Given the description of an element on the screen output the (x, y) to click on. 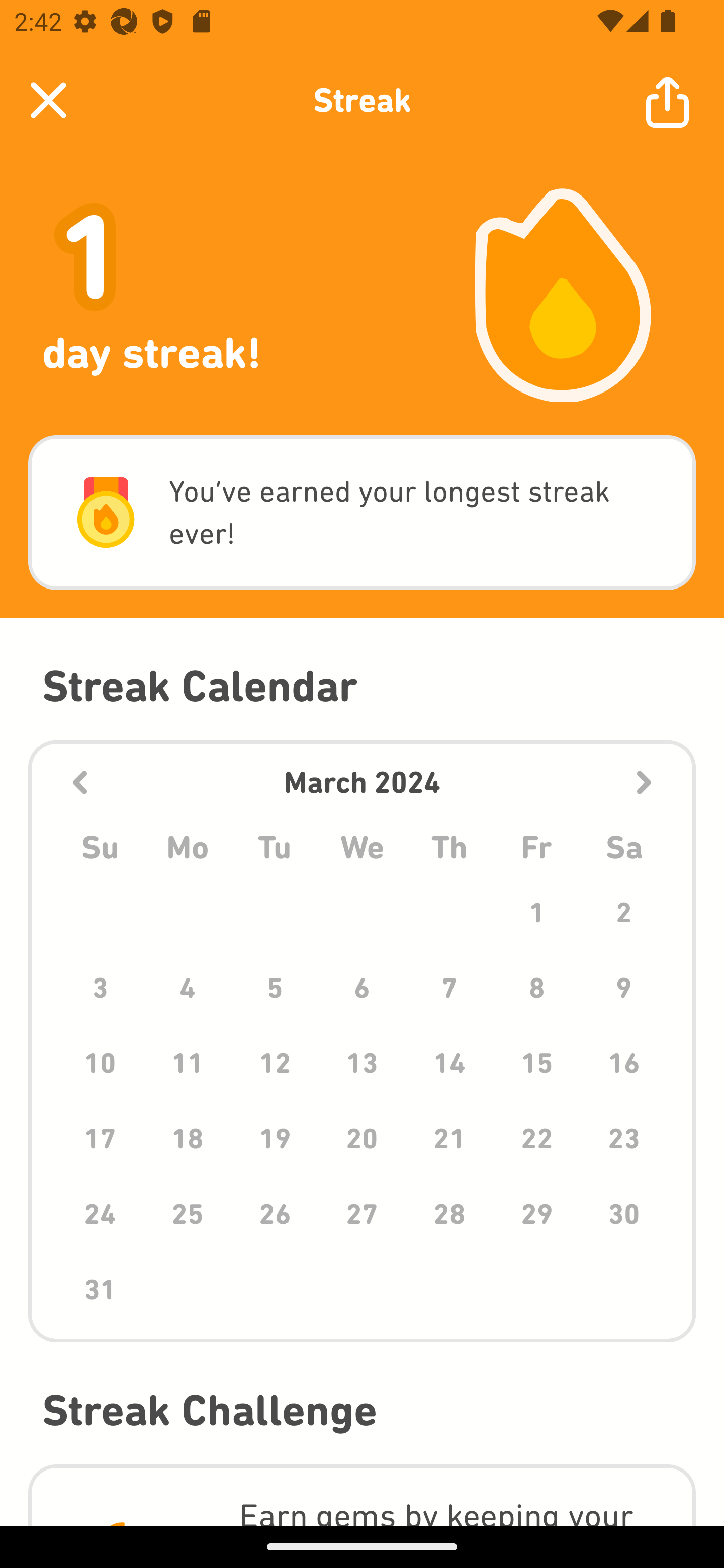
You’ve earned your longest streak ever! (361, 512)
